Given the description of an element on the screen output the (x, y) to click on. 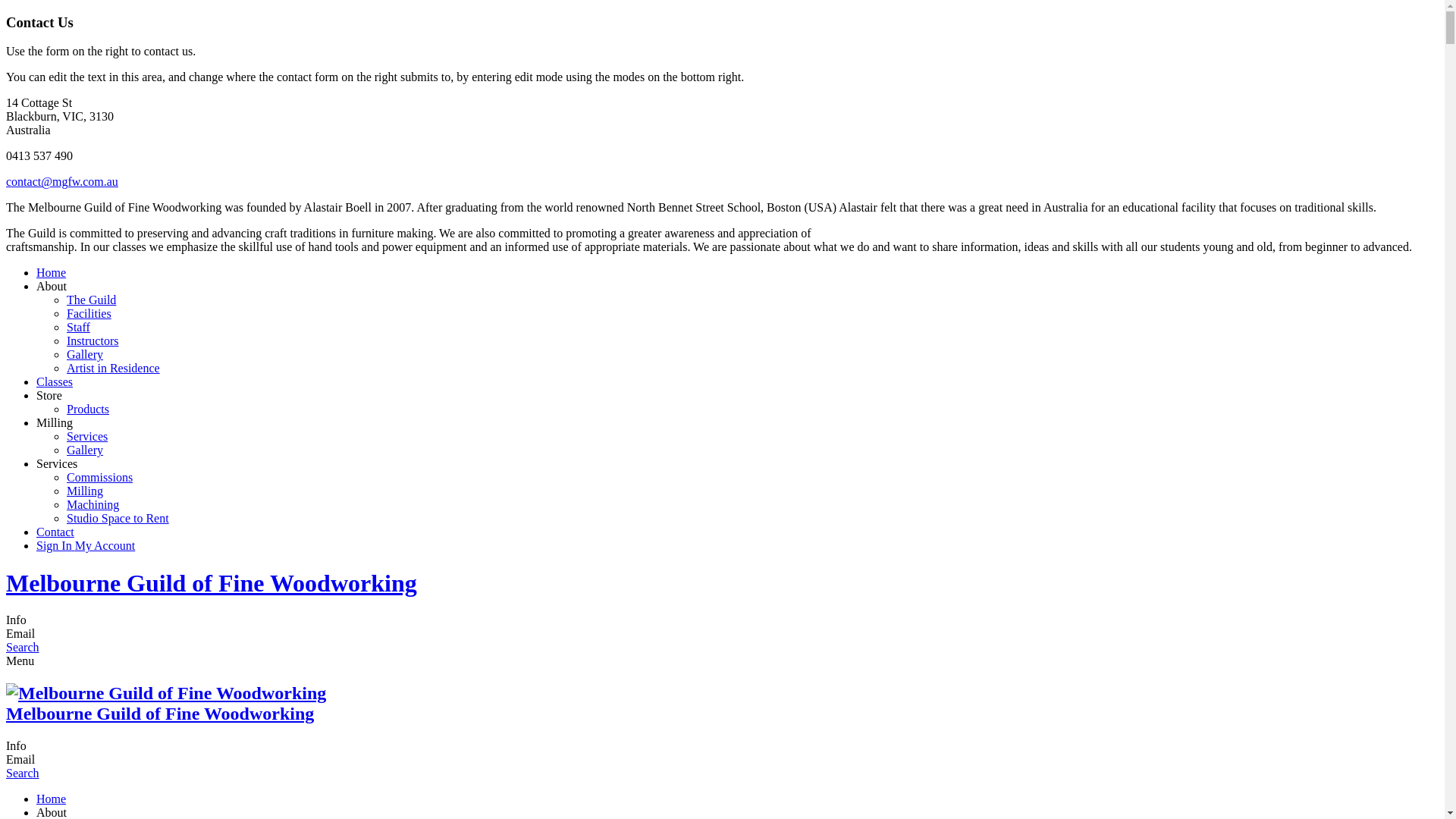
Studio Space to Rent Element type: text (117, 517)
Staff Element type: text (78, 326)
Melbourne Guild of Fine Woodworking Element type: text (211, 582)
Menu Element type: text (20, 660)
Sign In My Account Element type: text (85, 545)
Store Element type: text (49, 395)
The Guild Element type: text (91, 299)
Commissions Element type: text (99, 476)
Info Element type: text (16, 745)
Machining Element type: text (92, 504)
contact@mgfw.com.au Element type: text (62, 181)
Search Element type: text (22, 772)
Services Element type: text (56, 463)
Gallery Element type: text (84, 354)
Classes Element type: text (54, 381)
Services Element type: text (86, 435)
Email Element type: text (20, 633)
Milling Element type: text (54, 422)
Products Element type: text (87, 408)
Instructors Element type: text (92, 340)
About Element type: text (51, 285)
Melbourne Guild of Fine Woodworking Element type: text (159, 713)
Home Element type: text (50, 272)
Contact Element type: text (55, 531)
Search Element type: text (22, 646)
Facilities Element type: text (88, 313)
Home Element type: text (50, 798)
Milling Element type: text (84, 490)
Info Element type: text (16, 619)
Gallery Element type: text (84, 449)
Artist in Residence Element type: text (113, 367)
Email Element type: text (20, 759)
